Given the description of an element on the screen output the (x, y) to click on. 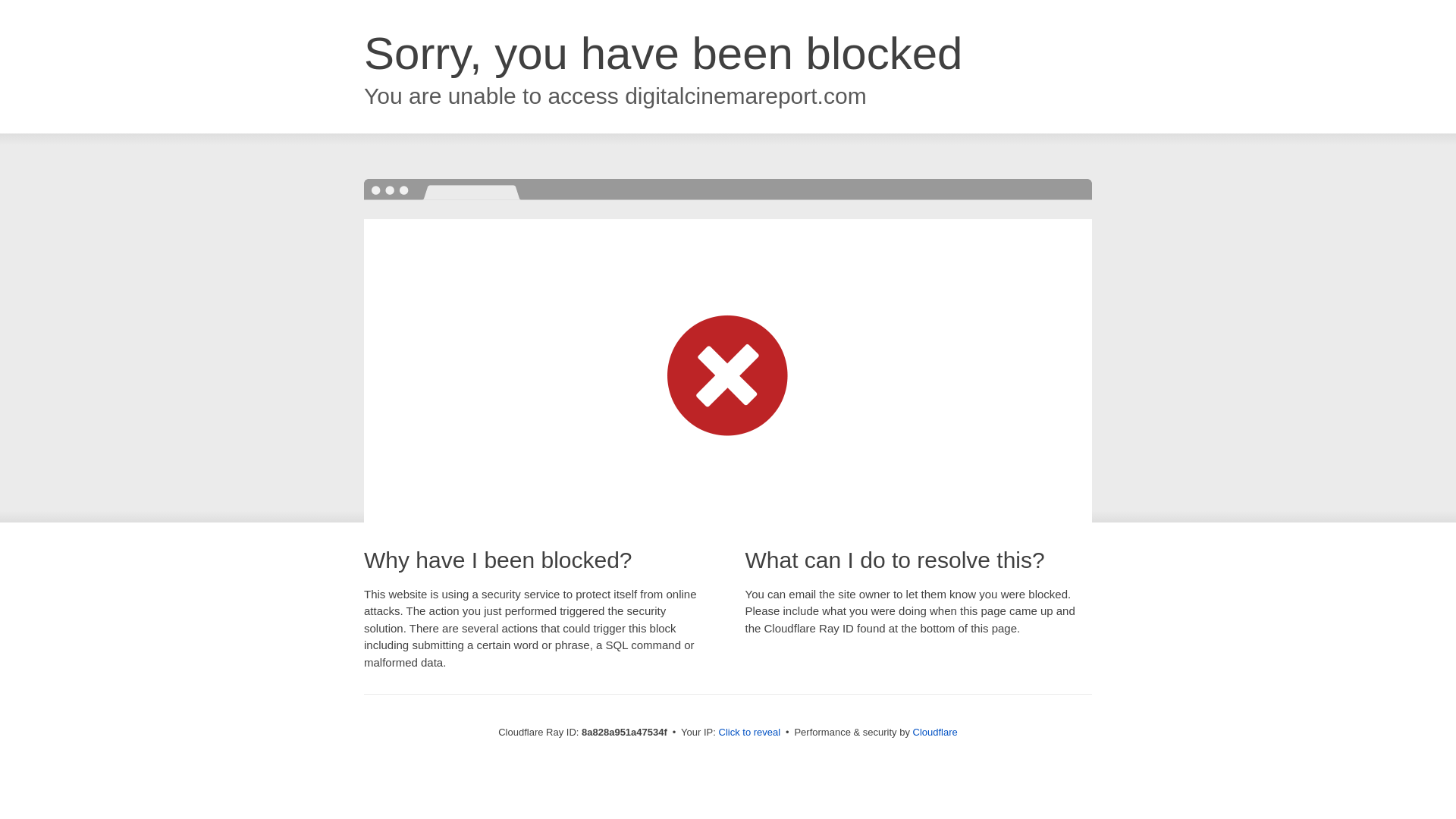
Cloudflare (935, 731)
Click to reveal (749, 732)
